Given the description of an element on the screen output the (x, y) to click on. 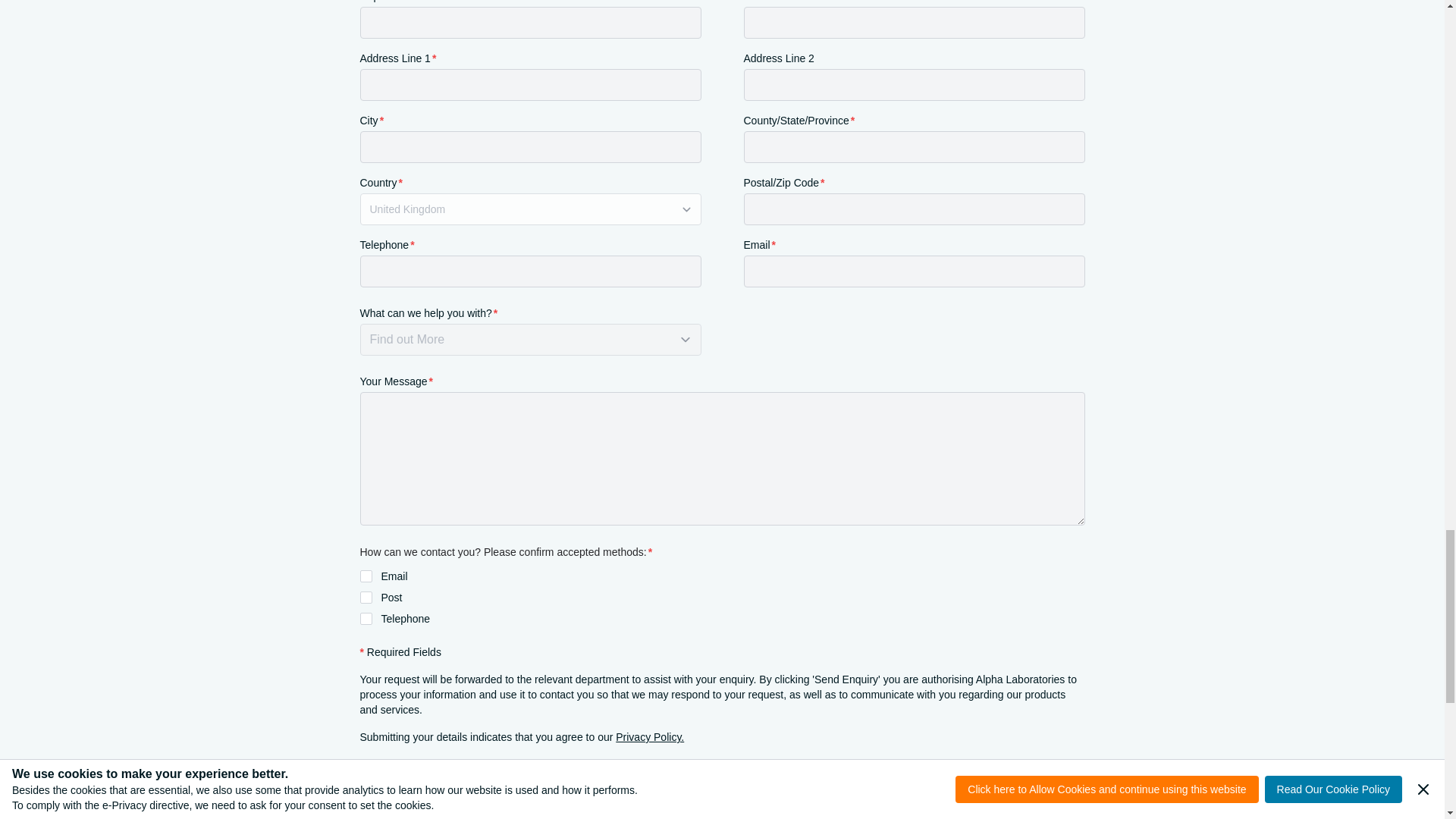
Yes (365, 618)
Yes (365, 576)
Country (529, 209)
Yes (365, 597)
